Given the description of an element on the screen output the (x, y) to click on. 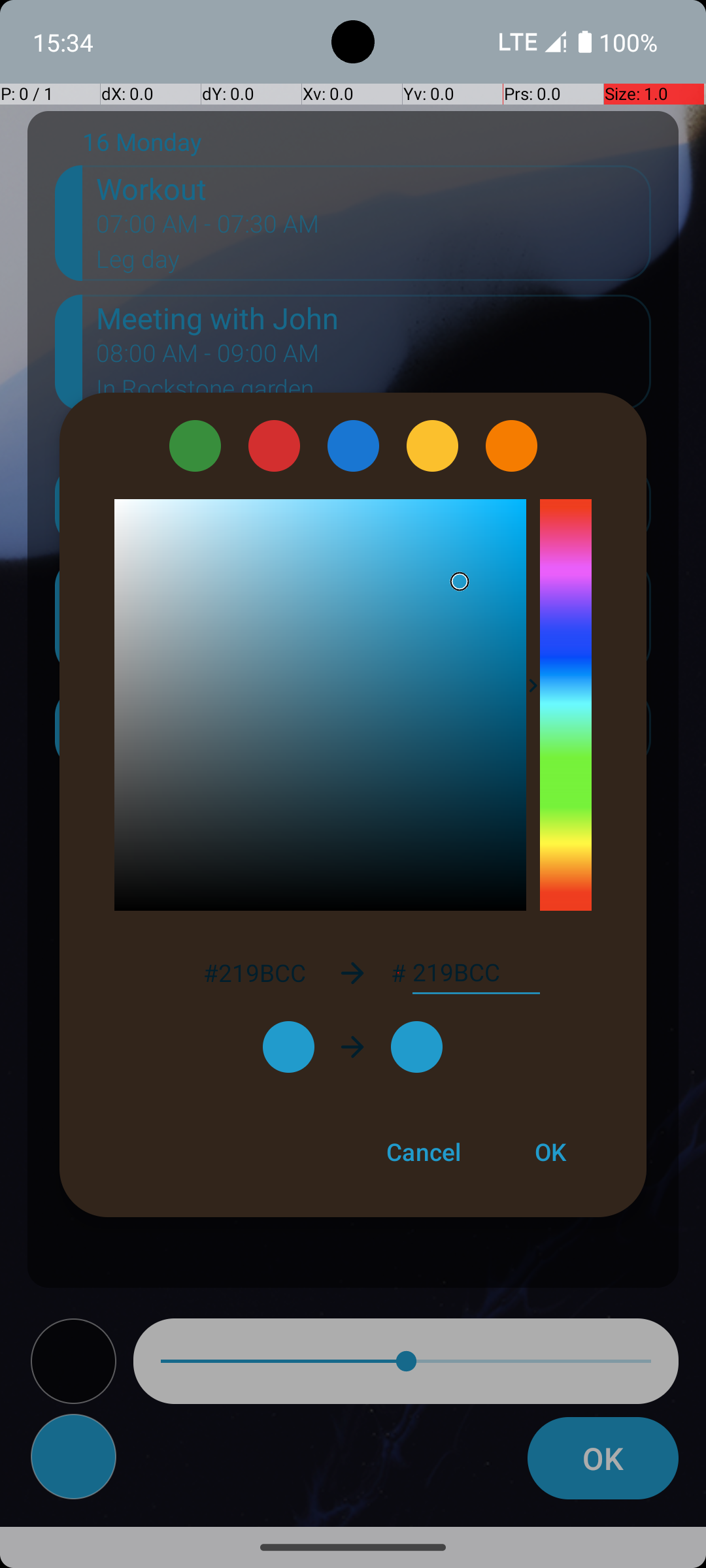
#219BCC Element type: android.widget.TextView (254, 972)
219BCC Element type: android.widget.EditText (475, 972)
